Given the description of an element on the screen output the (x, y) to click on. 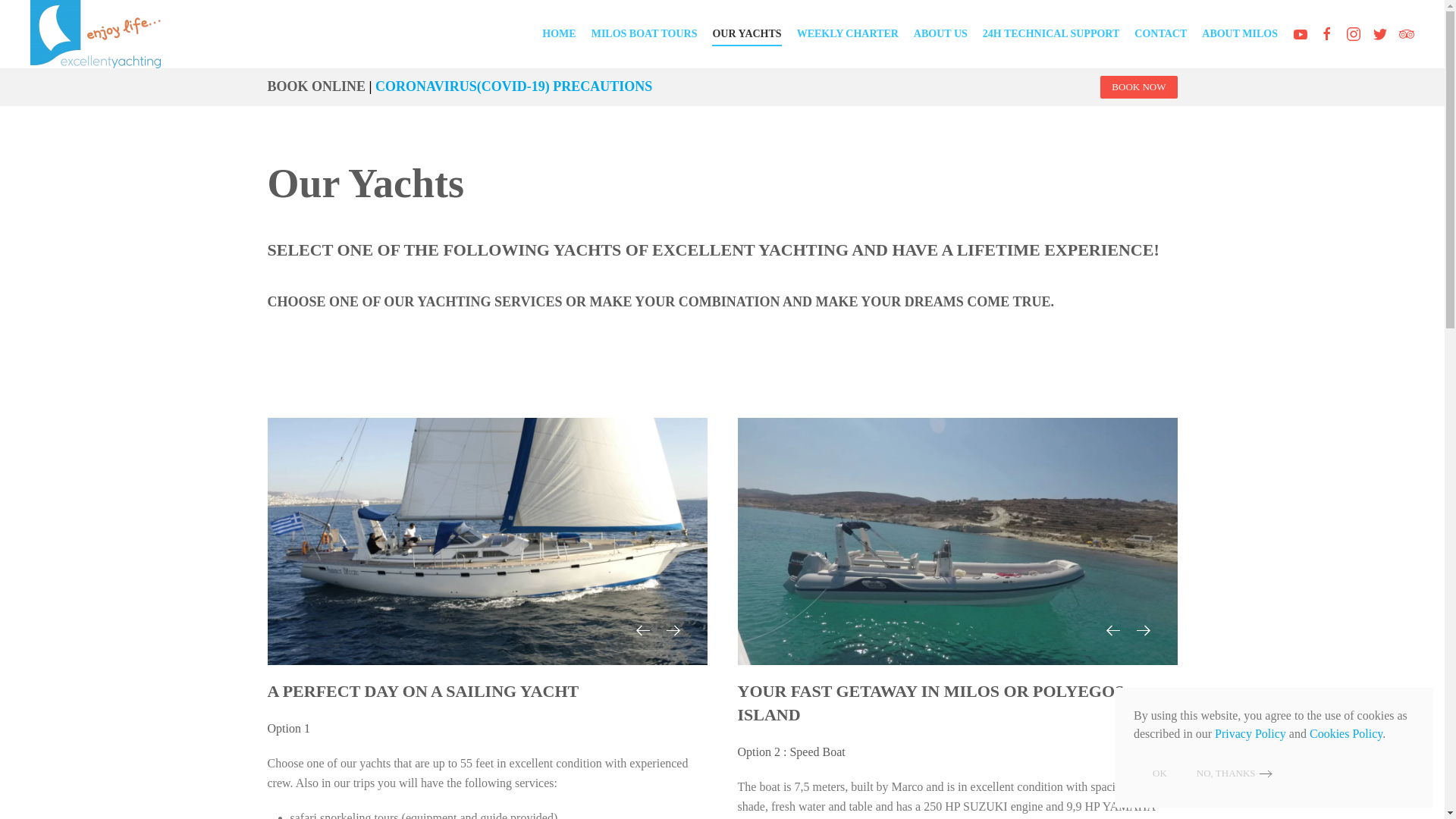
BOOK NOW (1138, 87)
OK (1160, 773)
WEEKLY CHARTER (847, 34)
NO, THANKS (1236, 772)
Cookies Policy (1344, 733)
ABOUT MILOS (1239, 34)
CONTACT (1159, 34)
MILOS BOAT TOURS (643, 34)
ABOUT US (940, 34)
Privacy Policy (1249, 733)
